Given the description of an element on the screen output the (x, y) to click on. 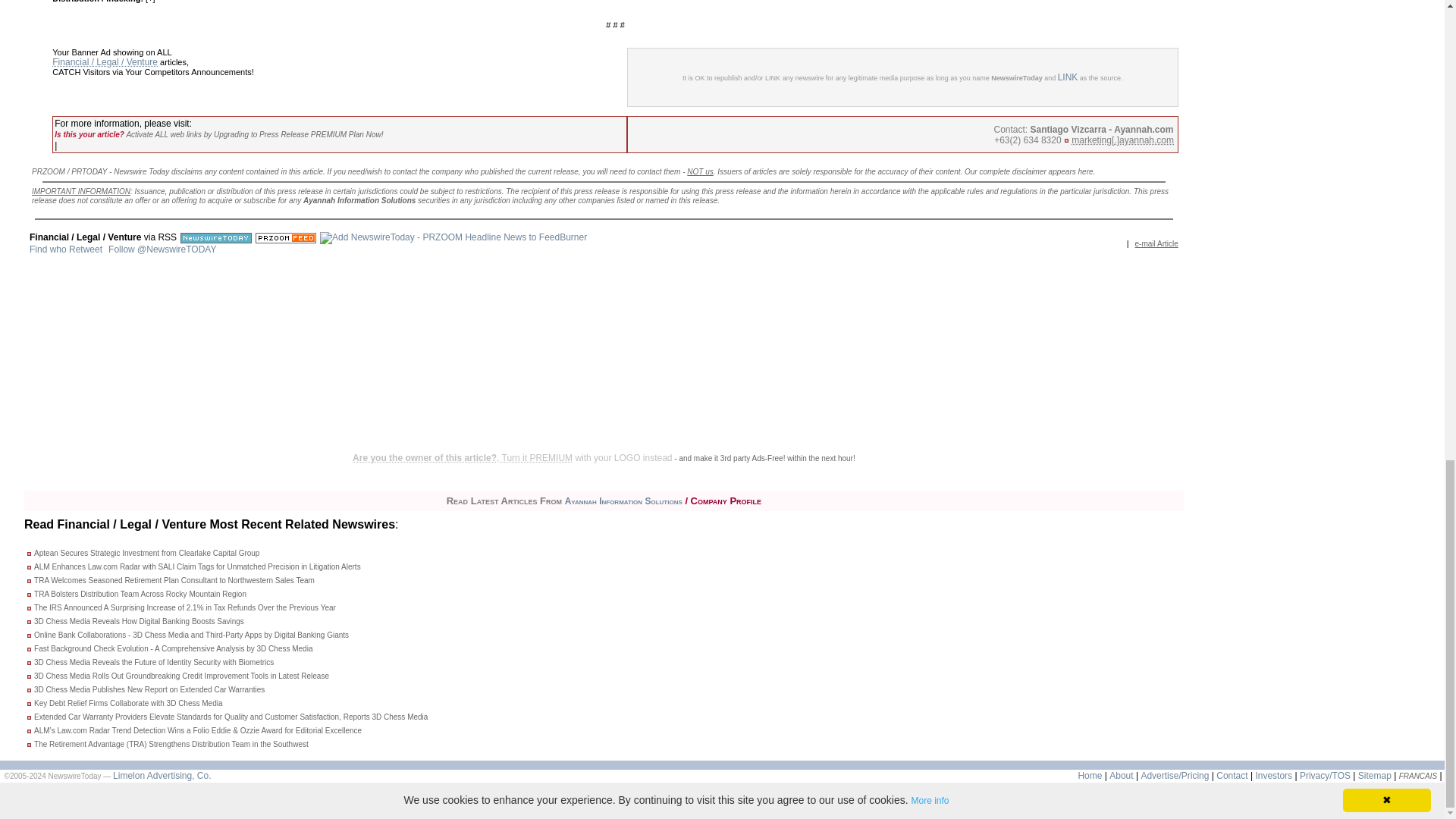
here (1085, 171)
e-mail Article (1156, 242)
LINK (1068, 77)
Find who Retweet (65, 249)
